Given the description of an element on the screen output the (x, y) to click on. 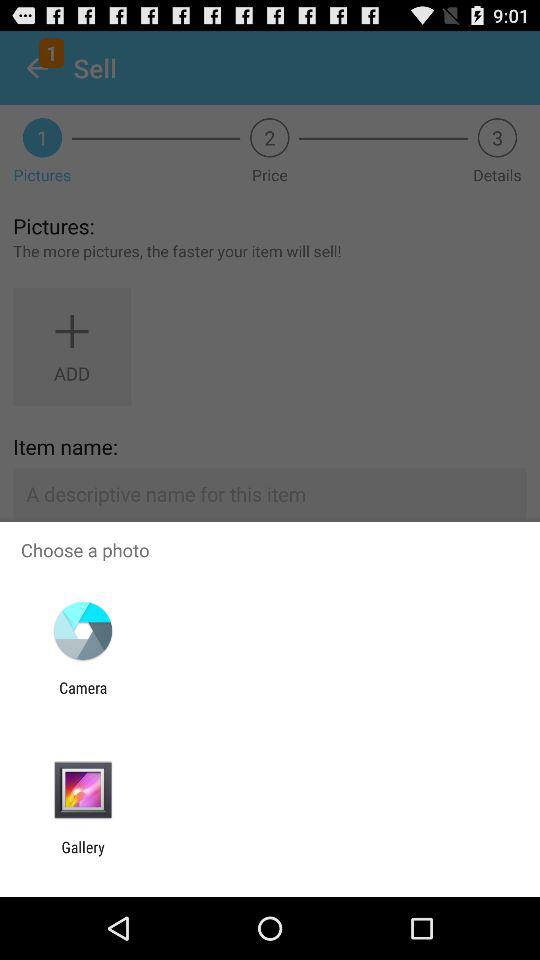
turn on gallery app (83, 856)
